Given the description of an element on the screen output the (x, y) to click on. 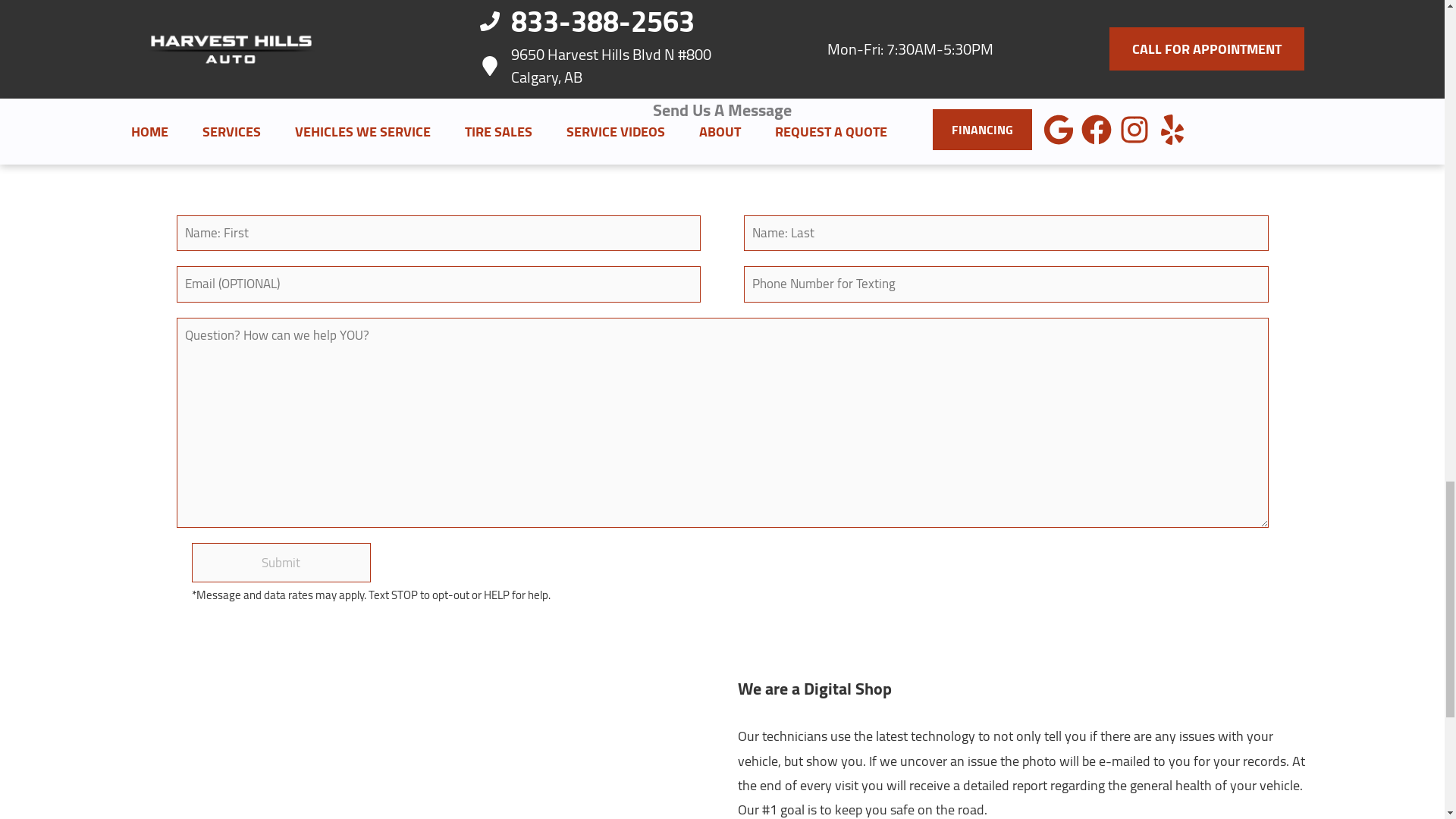
Submit (280, 562)
